Given the description of an element on the screen output the (x, y) to click on. 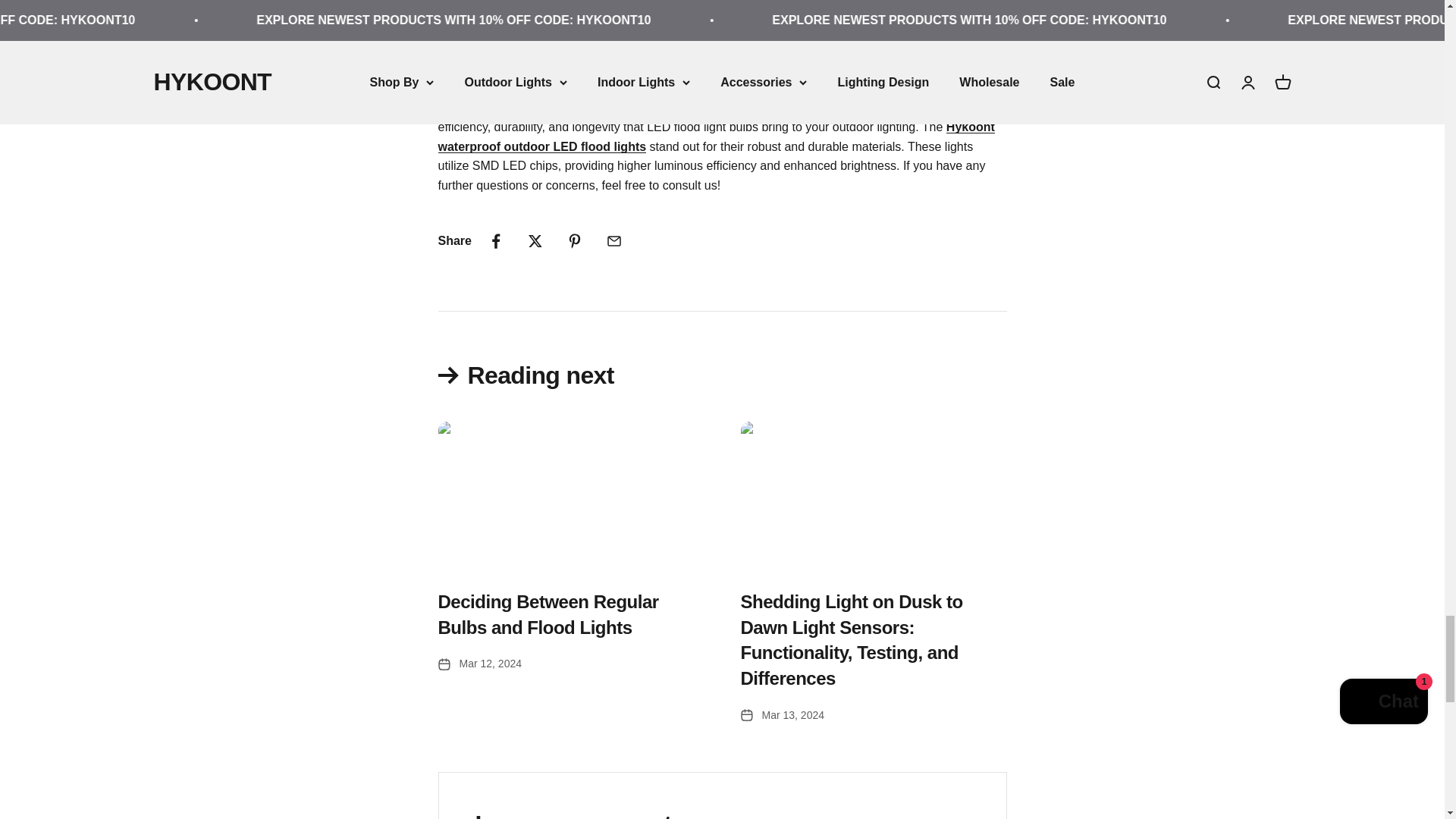
hykoont waterproof outdoor led flood lights (716, 136)
